Given the description of an element on the screen output the (x, y) to click on. 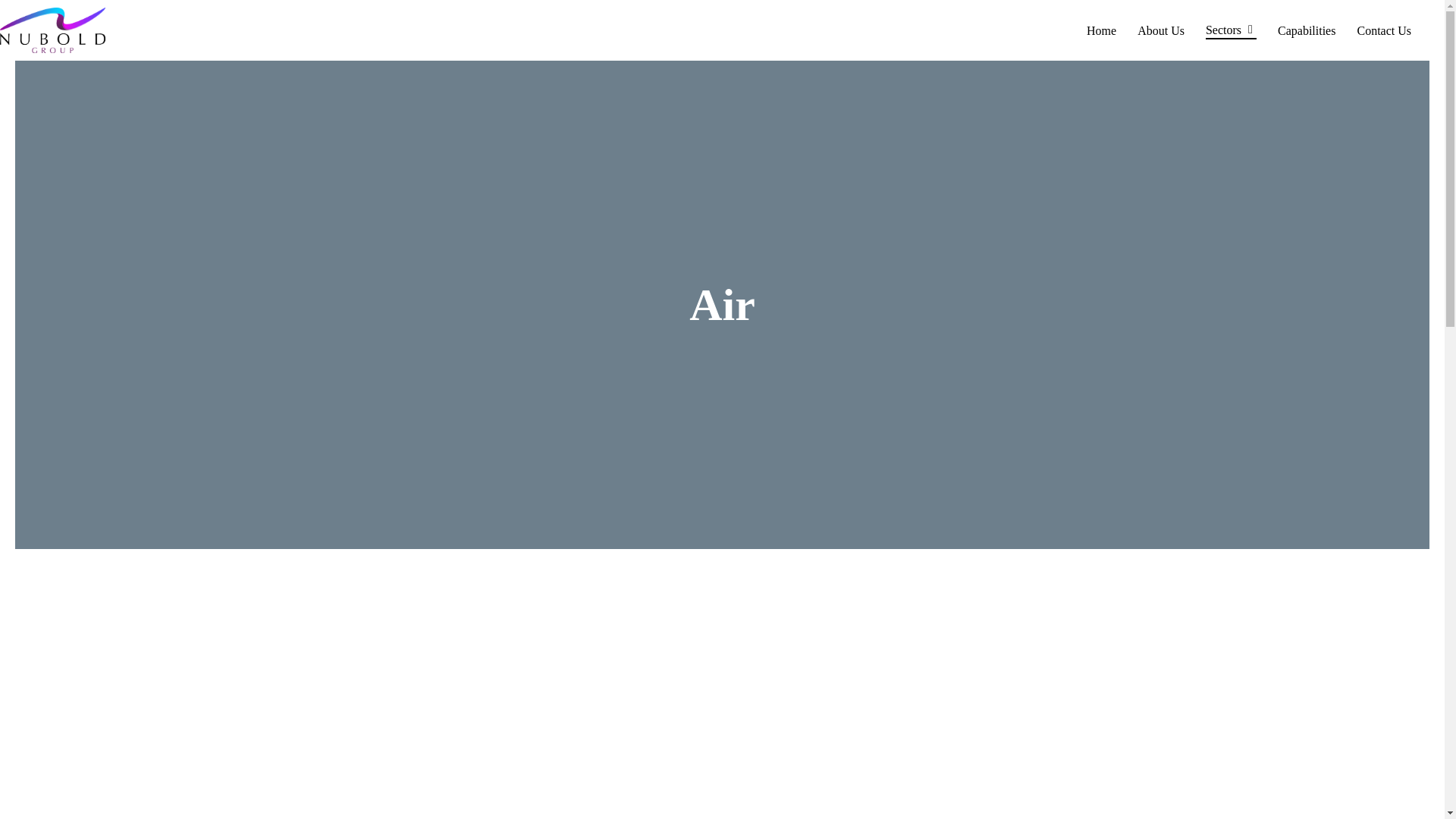
Capabilities (1306, 30)
Sectors (1230, 29)
Home (1101, 30)
Contact Us (1383, 30)
About Us (1161, 30)
Pick and Mix (722, 756)
